Given the description of an element on the screen output the (x, y) to click on. 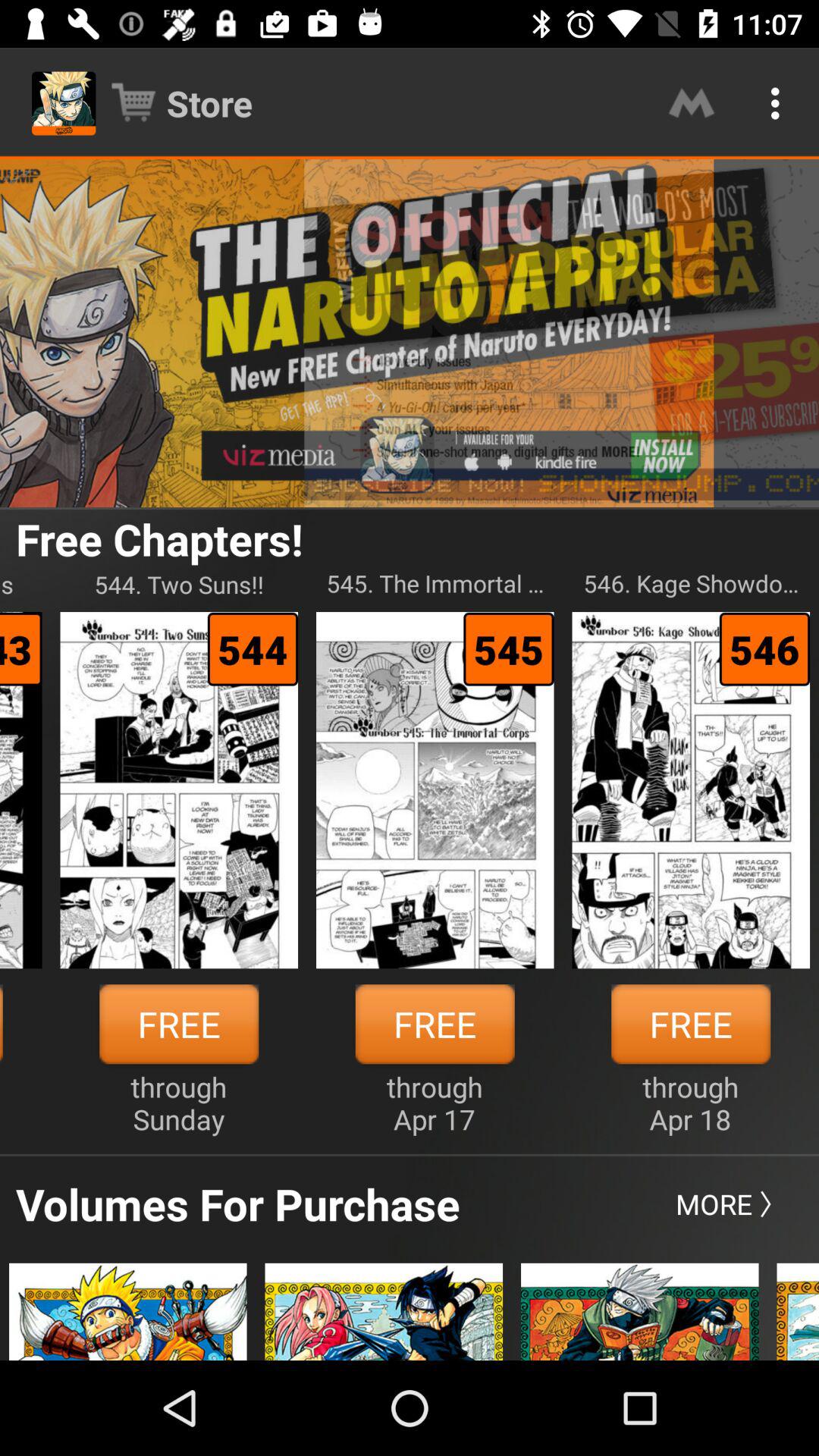
open the icon to the right of the 545 the immortal icon (691, 584)
